Given the description of an element on the screen output the (x, y) to click on. 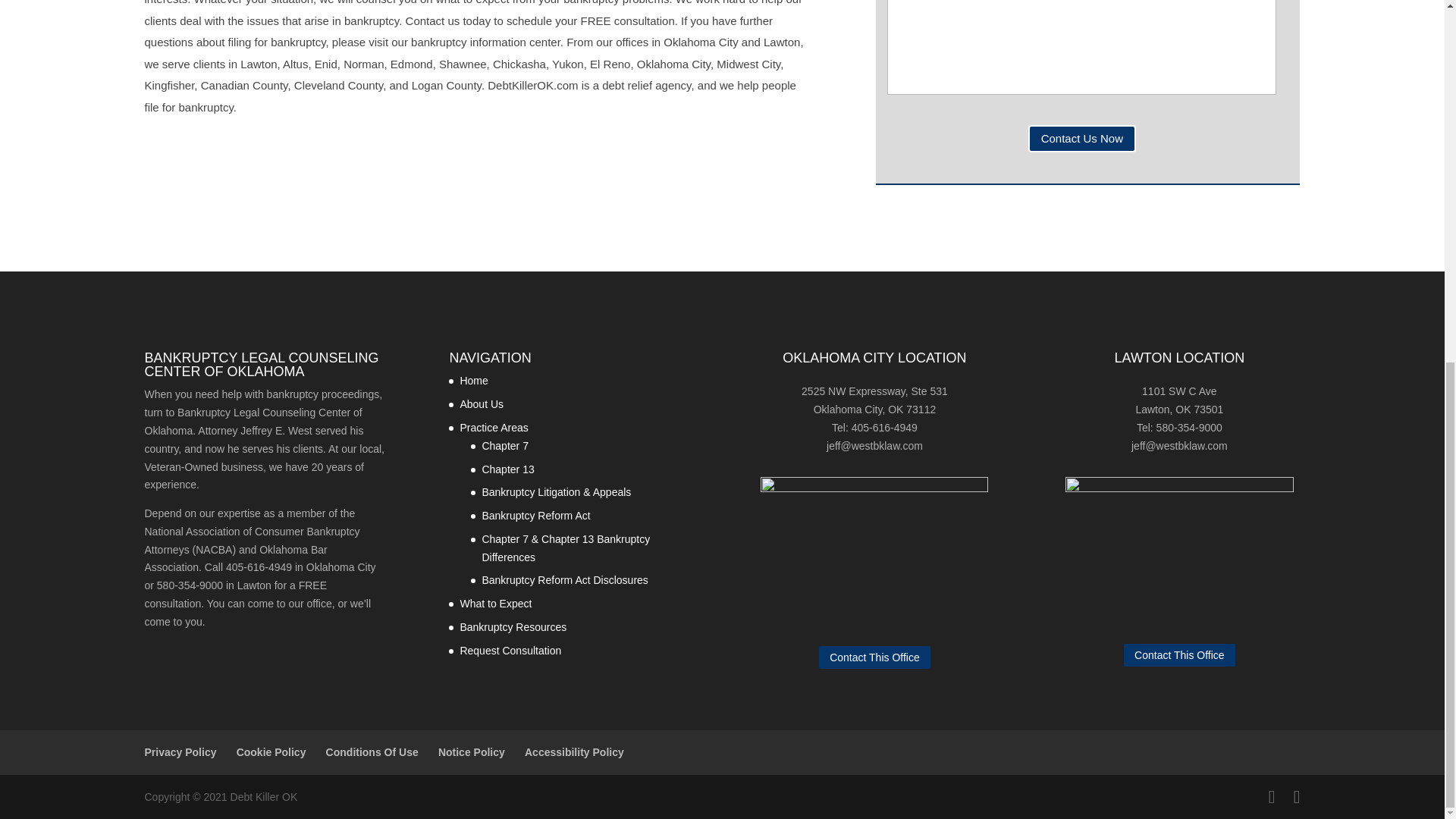
Contact This Office (1179, 654)
Contact Us Now (1081, 138)
What to Expect (495, 603)
Cookie Policy (270, 752)
Home (473, 380)
Privacy Policy (179, 752)
Accessibility Policy (574, 752)
Chapter 7 (504, 445)
Notice Policy (471, 752)
Chapter 13 (507, 469)
